Given the description of an element on the screen output the (x, y) to click on. 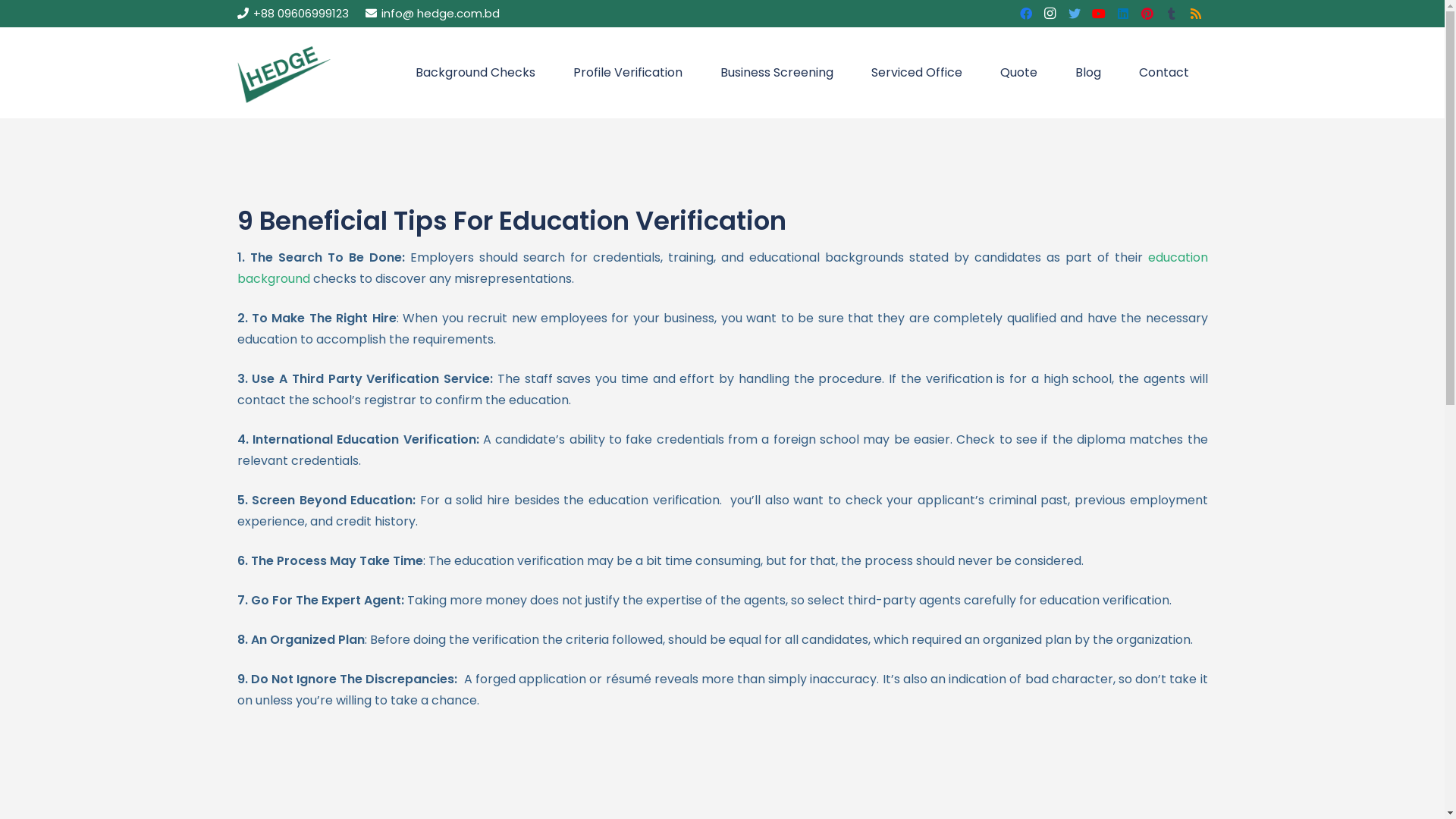
Pinterest Element type: hover (1147, 13)
LinkedIn Element type: hover (1122, 13)
education background Element type: text (721, 267)
Background Checks Element type: text (475, 72)
Facebook Element type: hover (1025, 13)
Profile Verification Element type: text (627, 72)
Contact Element type: text (1164, 72)
YouTube Element type: hover (1098, 13)
Serviced Office Element type: text (916, 72)
Twitter Element type: hover (1074, 13)
Blog Element type: text (1088, 72)
RSS Element type: hover (1195, 13)
Instagram Element type: hover (1050, 13)
Business Screening Element type: text (776, 72)
Tumblr Element type: hover (1171, 13)
Quote Element type: text (1018, 72)
